Given the description of an element on the screen output the (x, y) to click on. 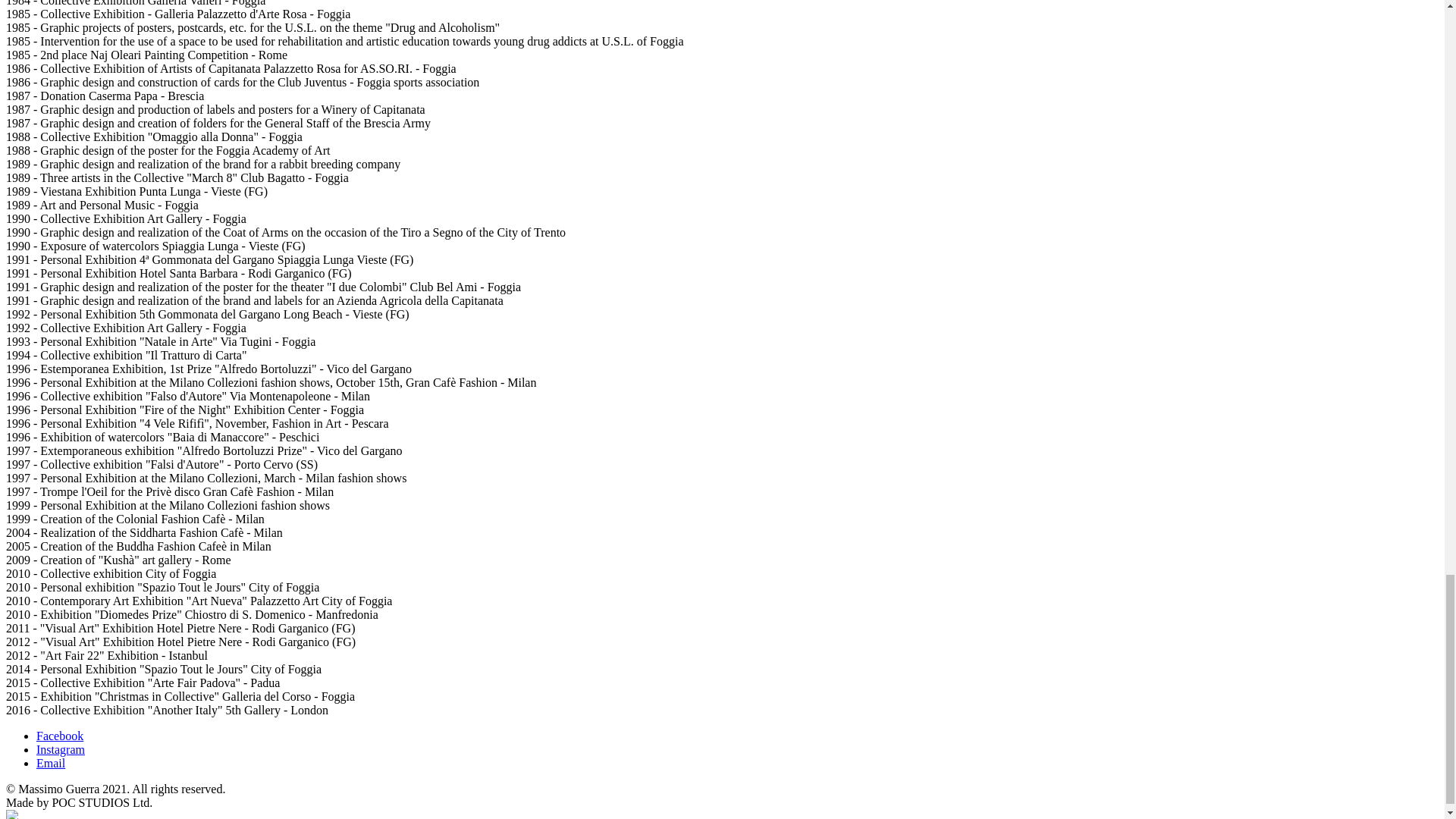
Instagram (60, 748)
Facebook (59, 735)
Email (50, 762)
